Given the description of an element on the screen output the (x, y) to click on. 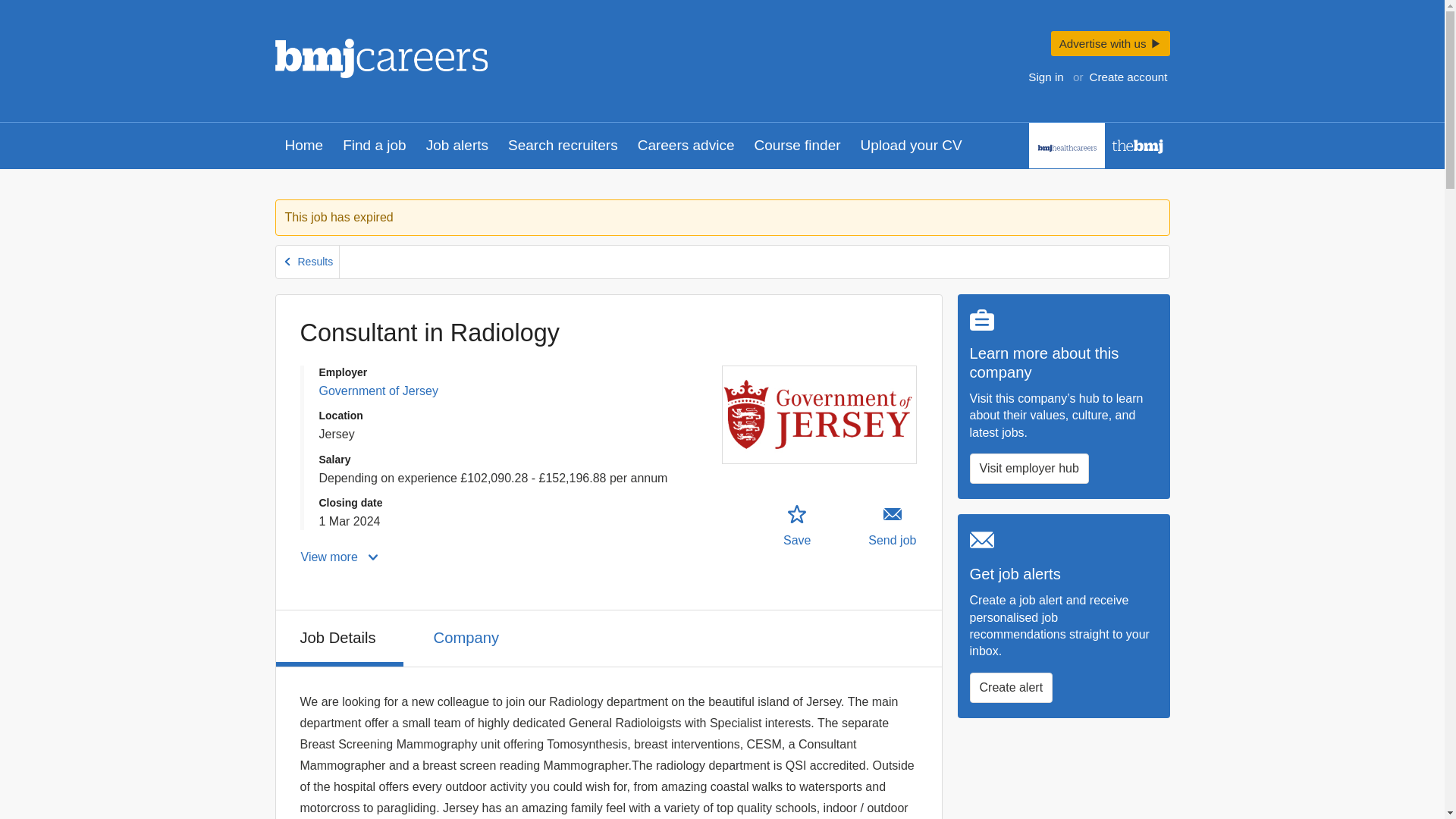
Search recruiters (562, 145)
Advertise with us (1110, 43)
Course finder (797, 145)
Sign in (1045, 76)
Create account (1128, 76)
Find a job (373, 145)
BMJ Careers (380, 57)
Job alerts (456, 145)
Results (308, 261)
Upload your CV (911, 145)
